Given the description of an element on the screen output the (x, y) to click on. 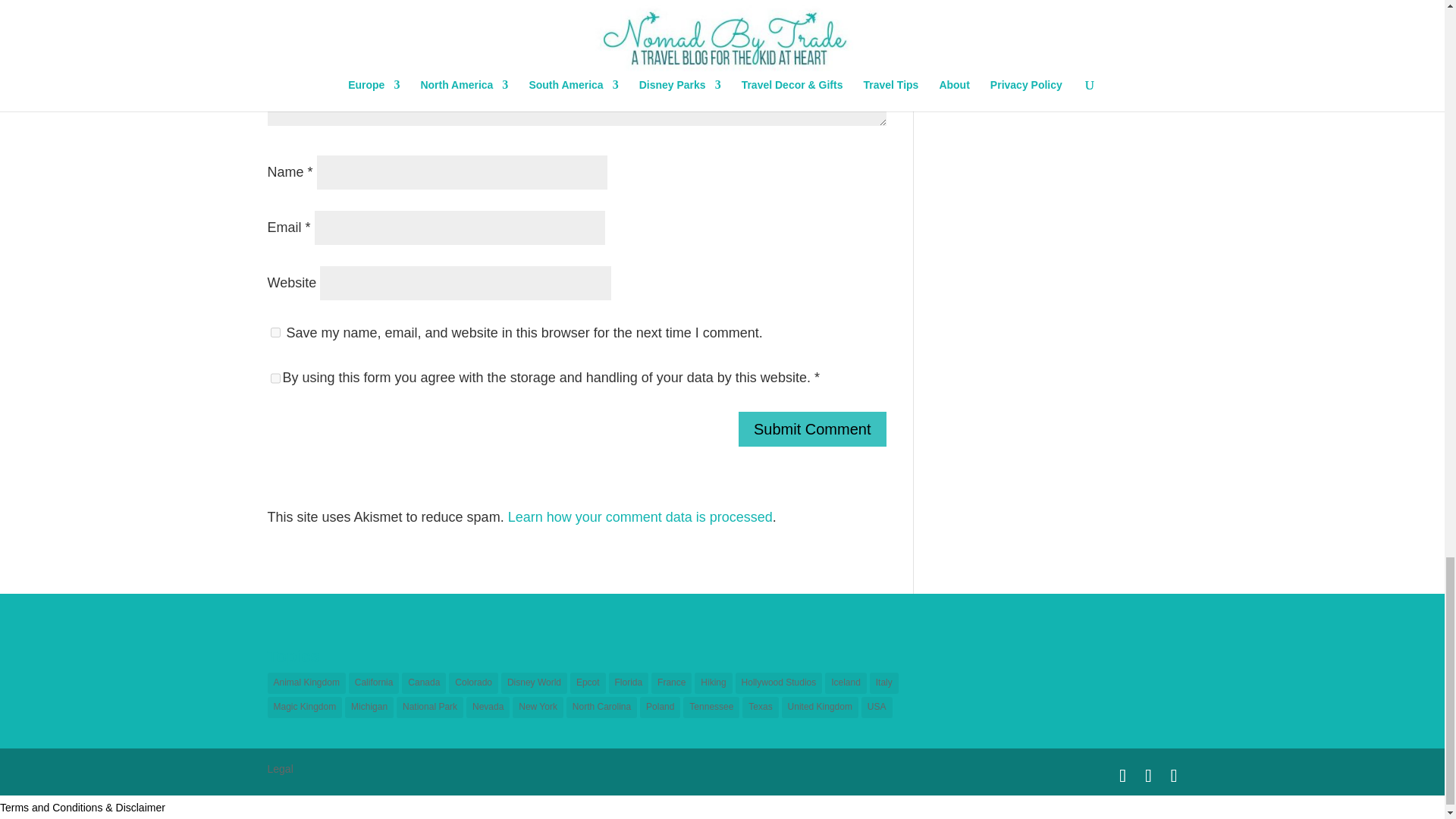
yes (274, 332)
Submit Comment (812, 428)
